Given the description of an element on the screen output the (x, y) to click on. 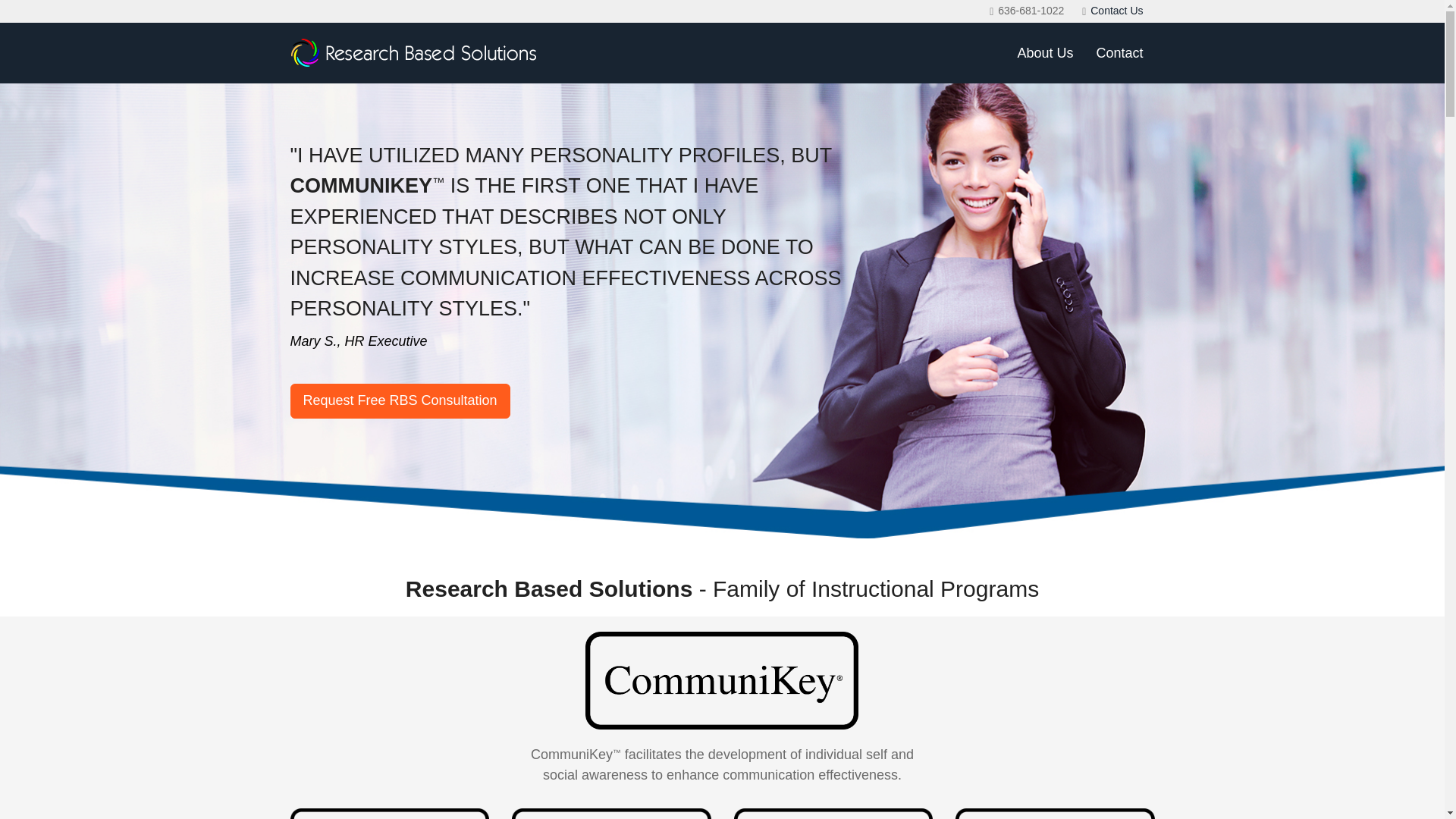
Contact (1119, 52)
Contact Us (1116, 10)
Request Free RBS Consultation (399, 401)
About Us (1045, 52)
